Given the description of an element on the screen output the (x, y) to click on. 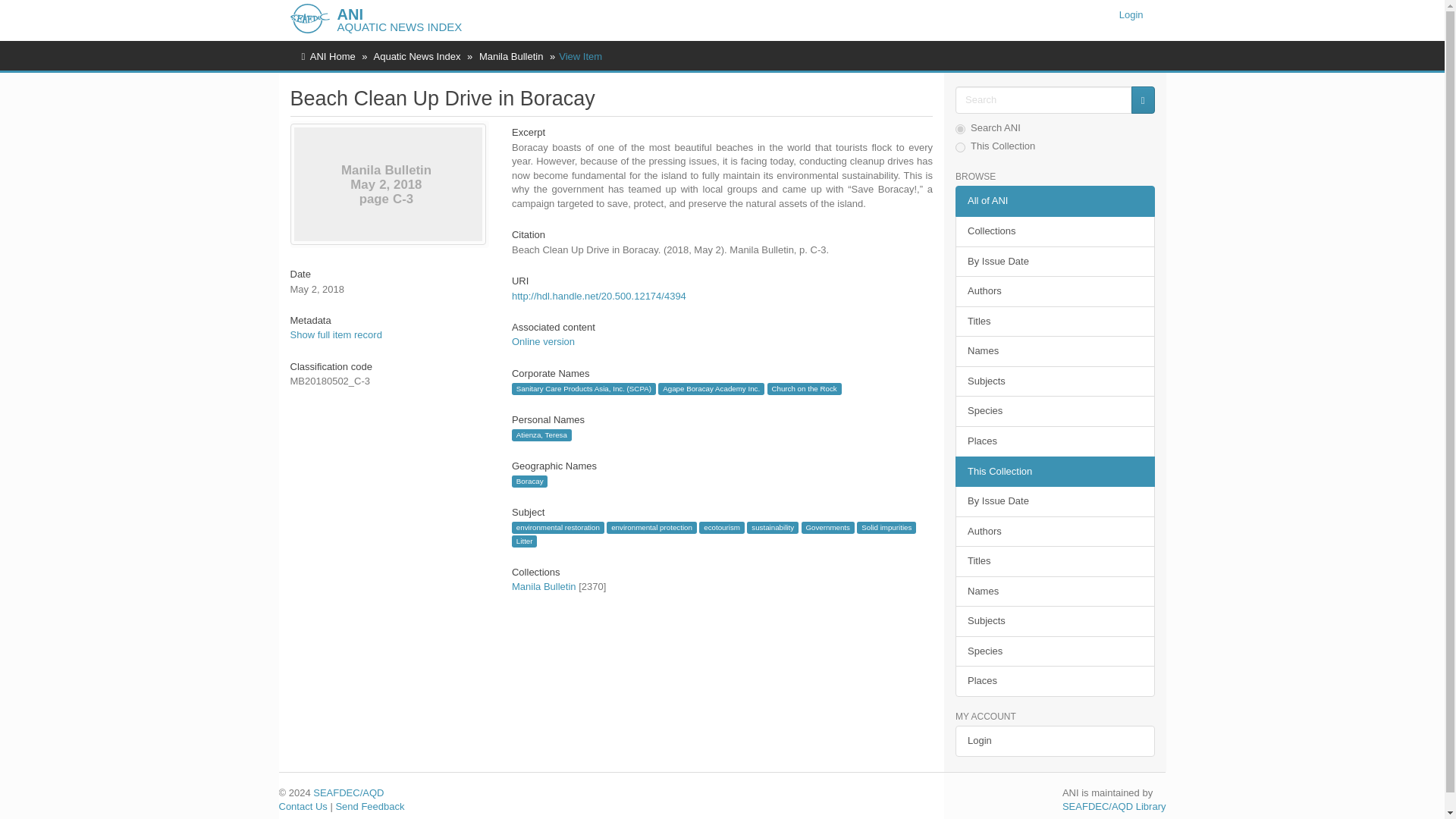
By Issue Date (1054, 261)
Governments (828, 527)
ANI Home (332, 56)
Manila Bulletin (511, 56)
ecotourism (721, 527)
Agape Boracay Academy Inc. (711, 388)
All of ANI (1054, 201)
sustainability (771, 527)
Titles (1054, 321)
Litter (524, 541)
